Given the description of an element on the screen output the (x, y) to click on. 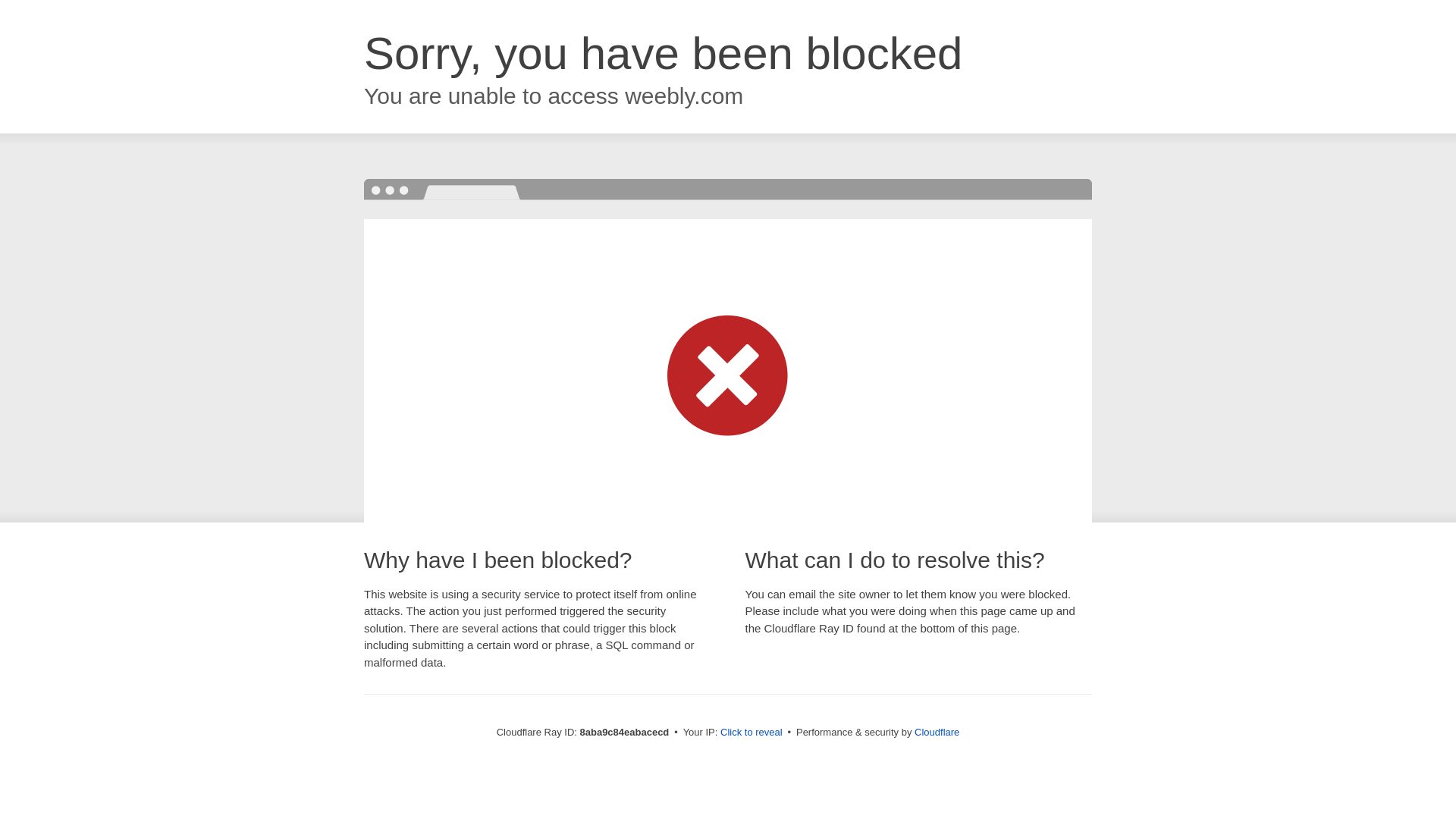
Cloudflare (936, 731)
Click to reveal (751, 732)
